Given the description of an element on the screen output the (x, y) to click on. 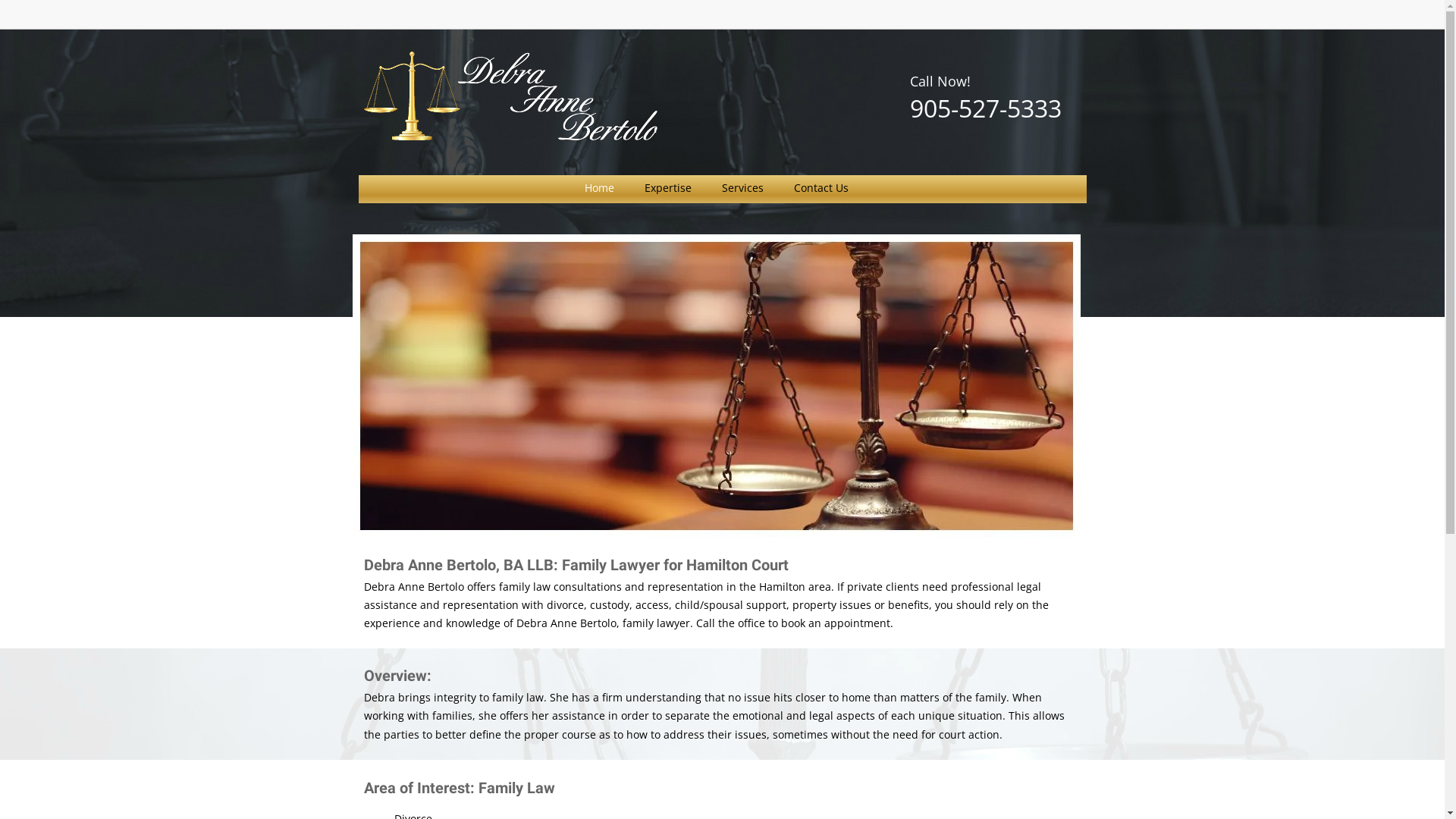
Embedded Content Element type: hover (975, 15)
Services Element type: text (742, 186)
905-527-5333 Element type: text (985, 107)
Embedded Content Element type: hover (1063, 19)
Expertise Element type: text (667, 186)
Contact Us Element type: text (820, 186)
Home Element type: text (599, 186)
